Given the description of an element on the screen output the (x, y) to click on. 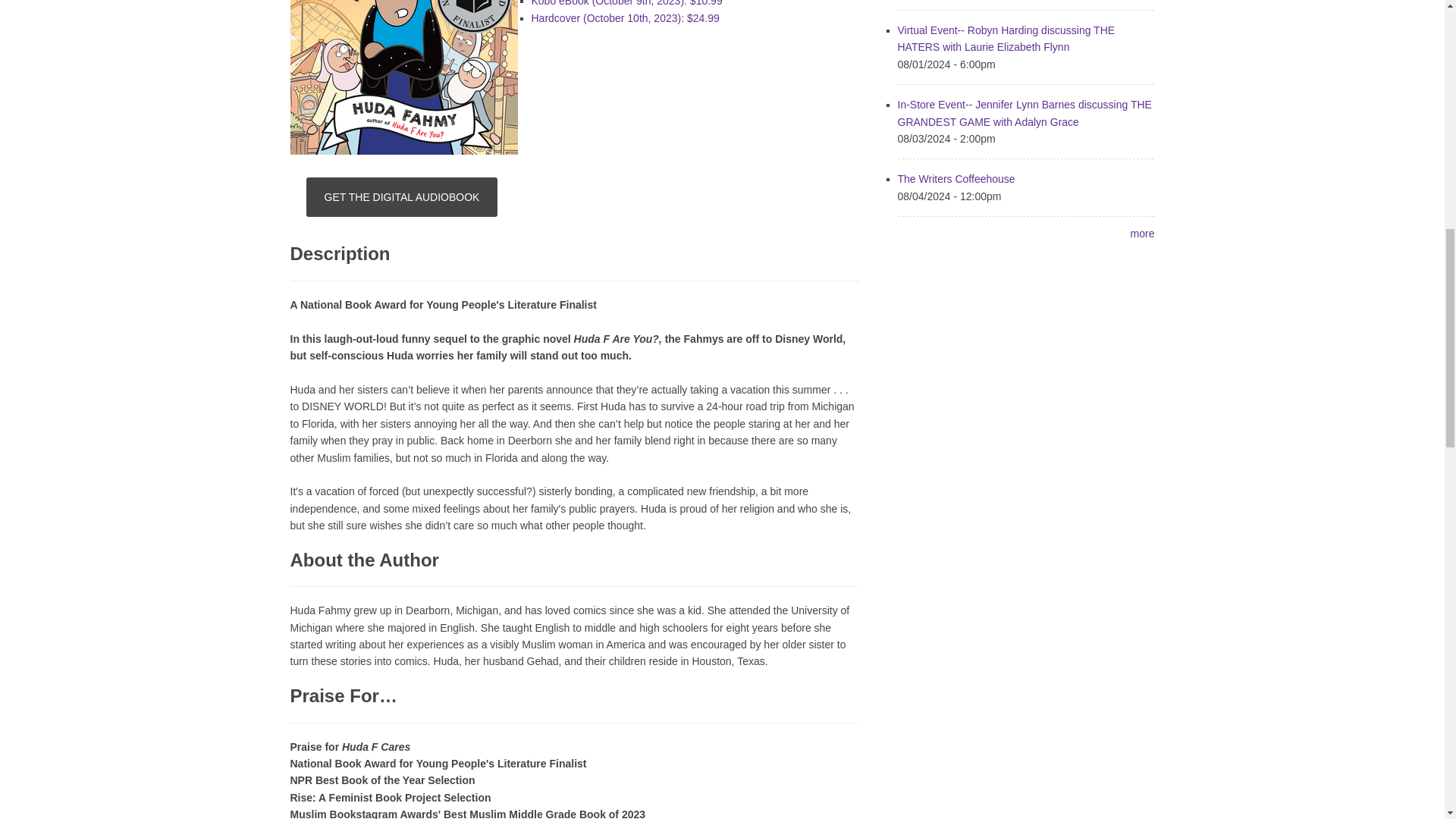
Get the Digital Audiobook (401, 197)
